Given the description of an element on the screen output the (x, y) to click on. 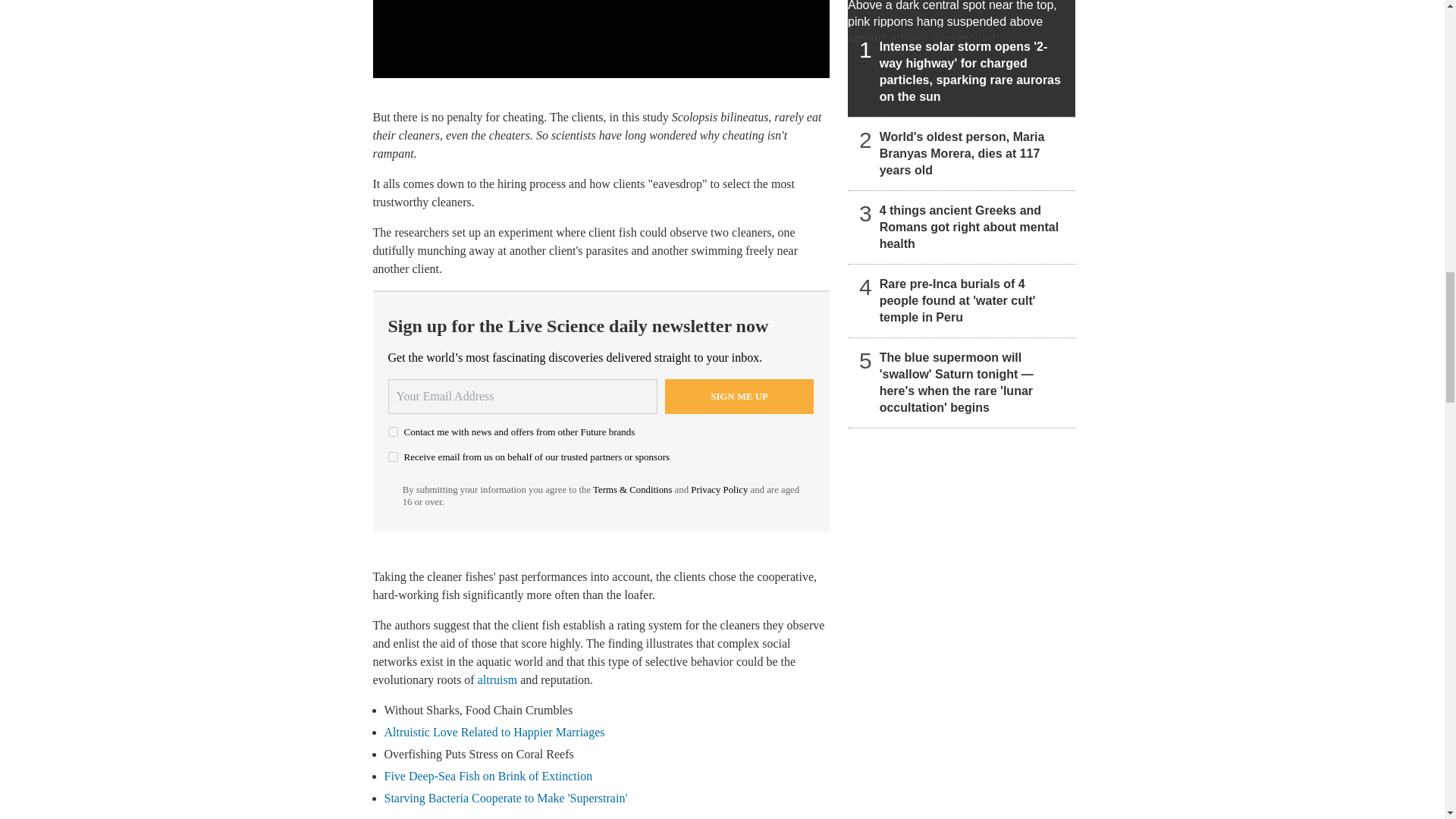
on (392, 431)
on (392, 456)
Sign me up (739, 396)
